Given the description of an element on the screen output the (x, y) to click on. 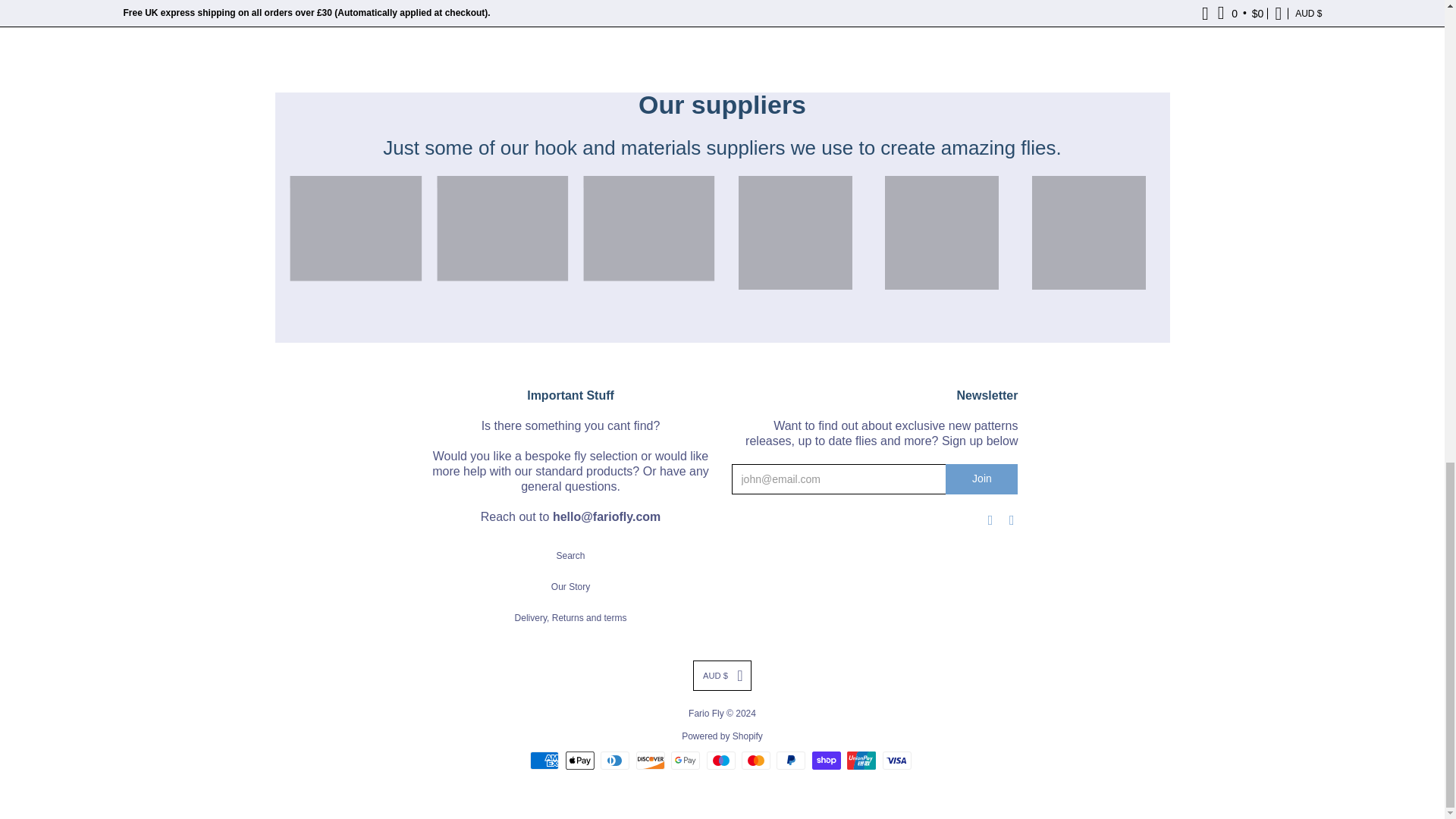
Diners Club (613, 760)
Shop Pay (826, 760)
Maestro (720, 760)
American Express (544, 760)
Union Pay (861, 760)
Visa (896, 760)
Google Pay (685, 760)
Apple Pay (580, 760)
PayPal (790, 760)
Mastercard (755, 760)
